Given the description of an element on the screen output the (x, y) to click on. 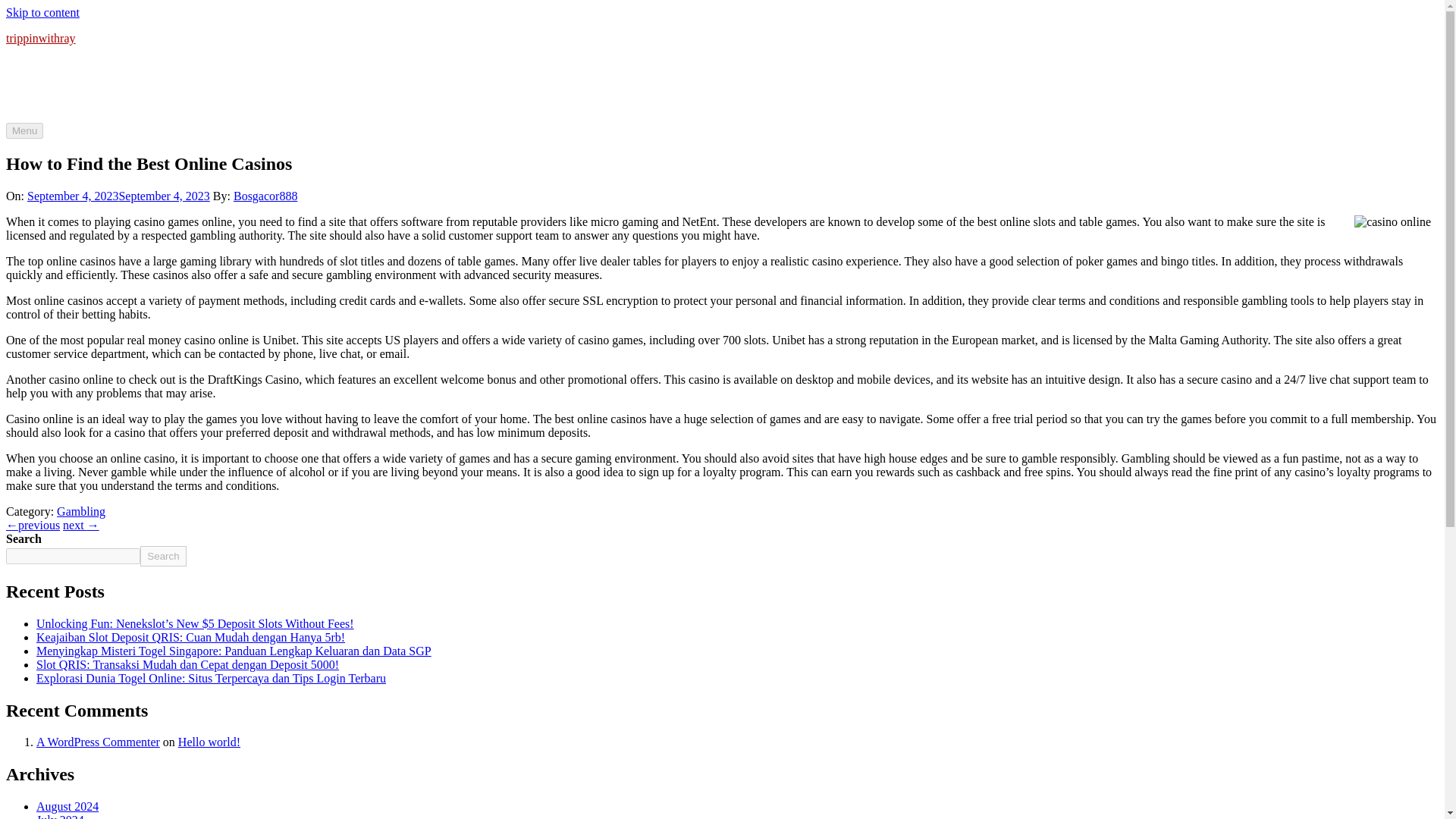
trippinwithray (40, 38)
Bosgacor888 (264, 195)
Skip to content (42, 11)
Hello world! (208, 741)
Slot QRIS: Transaksi Mudah dan Cepat dengan Deposit 5000! (187, 664)
July 2024 (60, 816)
Search (162, 556)
Menu (24, 130)
